Given the description of an element on the screen output the (x, y) to click on. 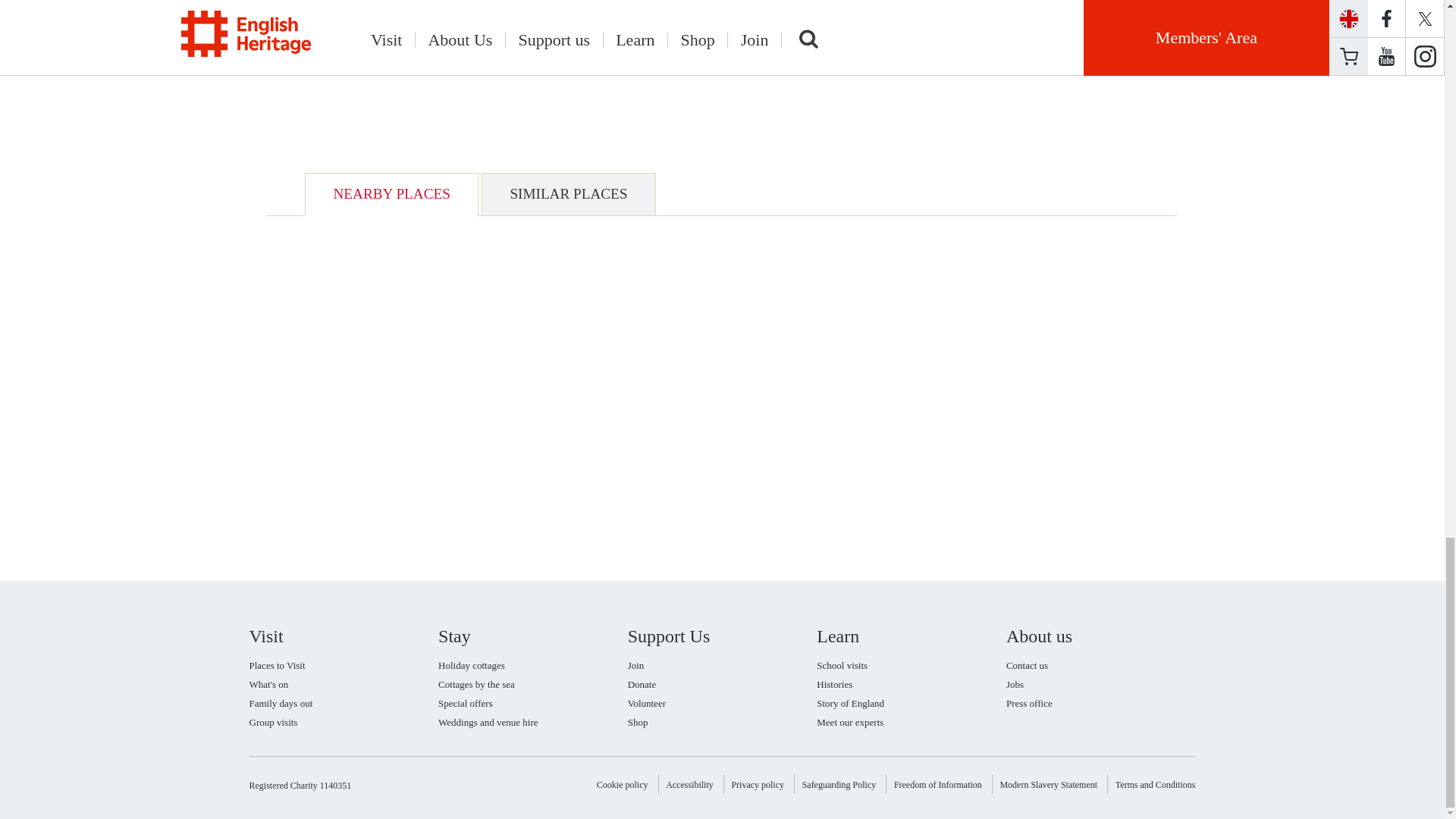
Castle Acre: Castle Acre Priory (754, 41)
Castle Acre Castle and Bailey Gate (994, 41)
Castle Acre Castle and Bailey Gate (408, 62)
